Given the description of an element on the screen output the (x, y) to click on. 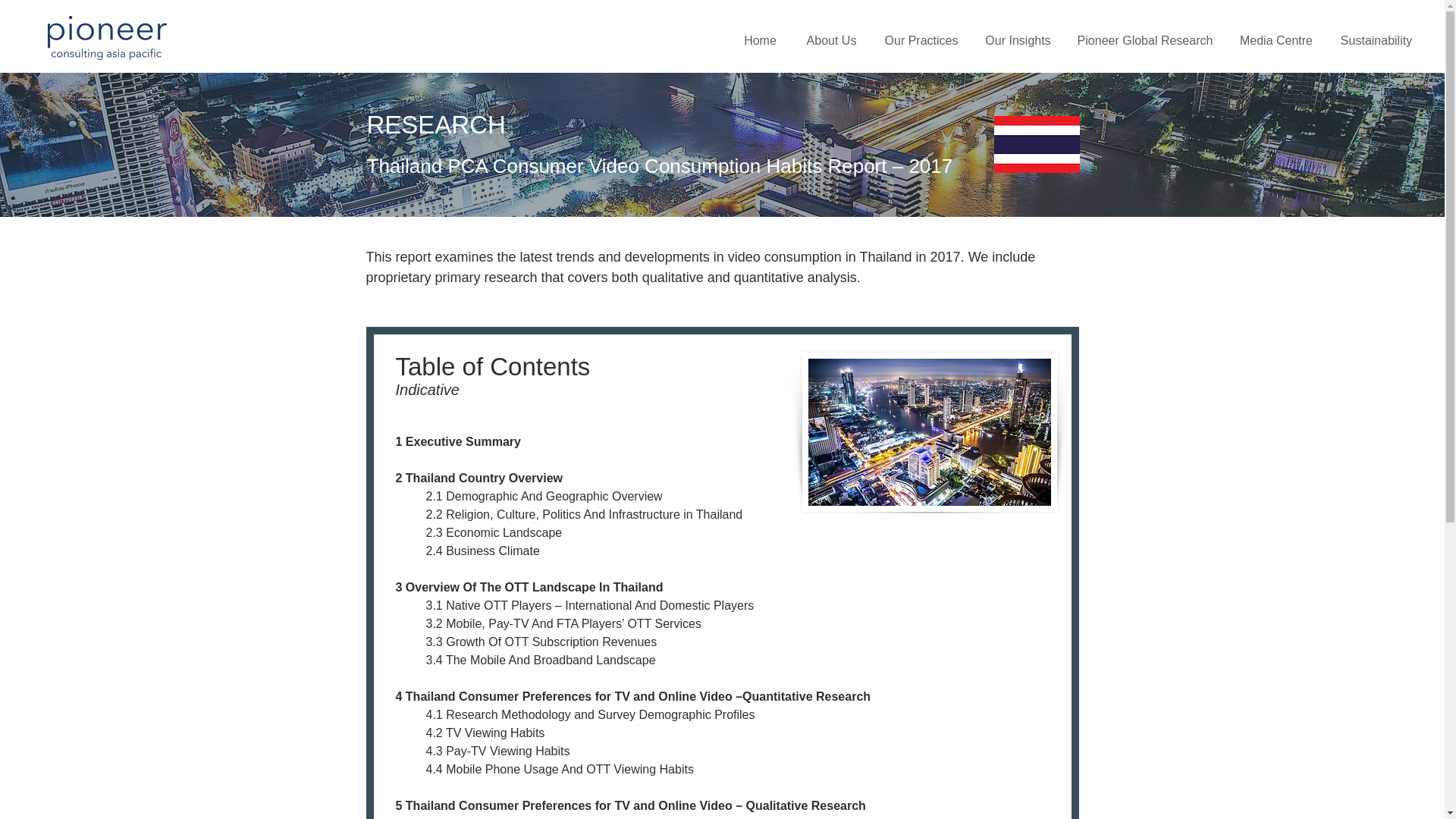
Sustainability (1375, 40)
Home (760, 40)
Our Insights (1017, 40)
Pioneer Global Research (1144, 40)
Media Centre (1275, 40)
About Us (831, 40)
